Given the description of an element on the screen output the (x, y) to click on. 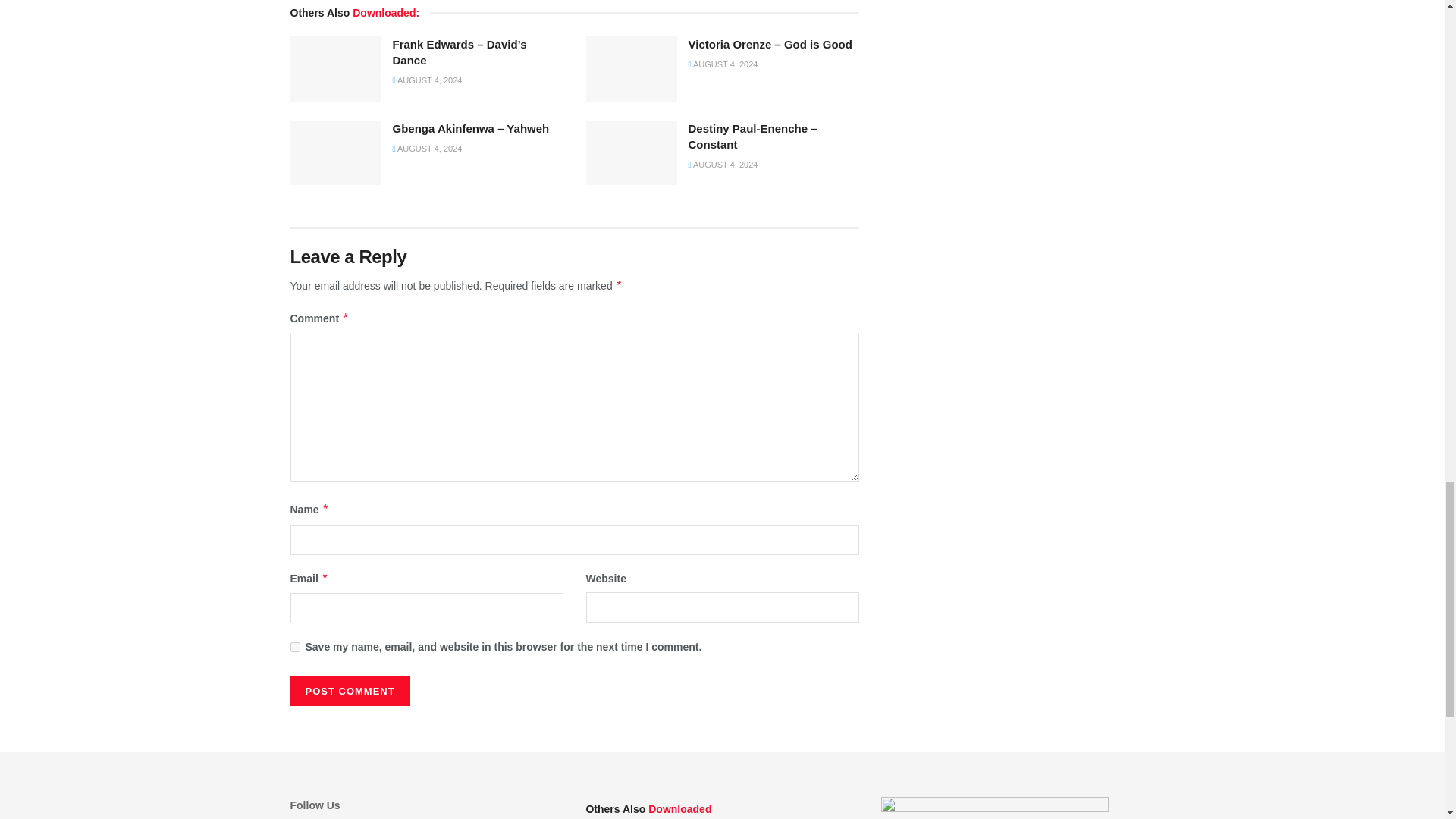
yes (294, 646)
Post Comment (349, 690)
